Given the description of an element on the screen output the (x, y) to click on. 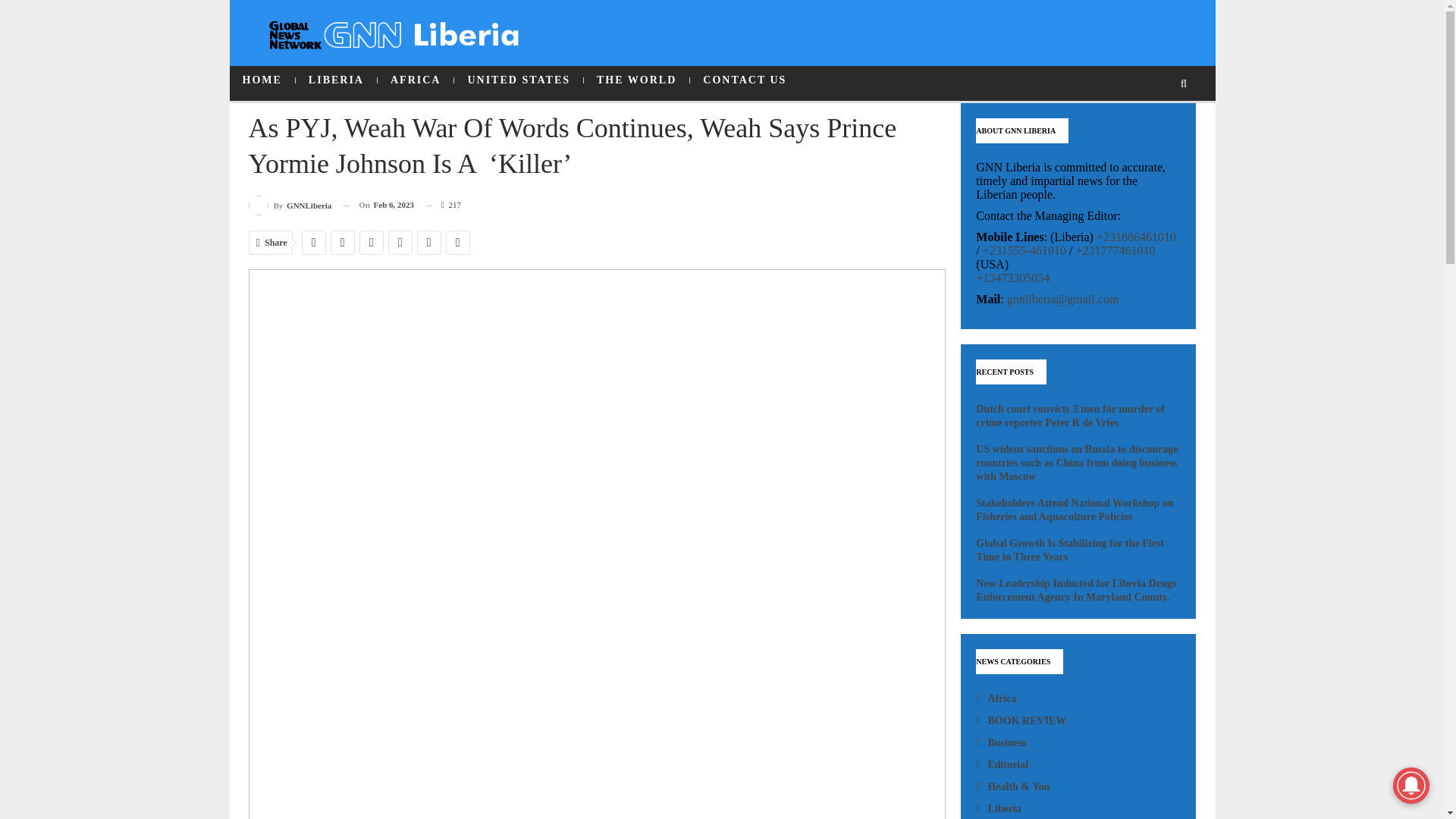
CONTACT US (744, 80)
HOME (261, 80)
AFRICA (414, 80)
LIBERIA (336, 80)
By GNNLiberia (289, 204)
UNITED STATES (518, 80)
Browse Author Articles (289, 204)
THE WORLD (635, 80)
